Given the description of an element on the screen output the (x, y) to click on. 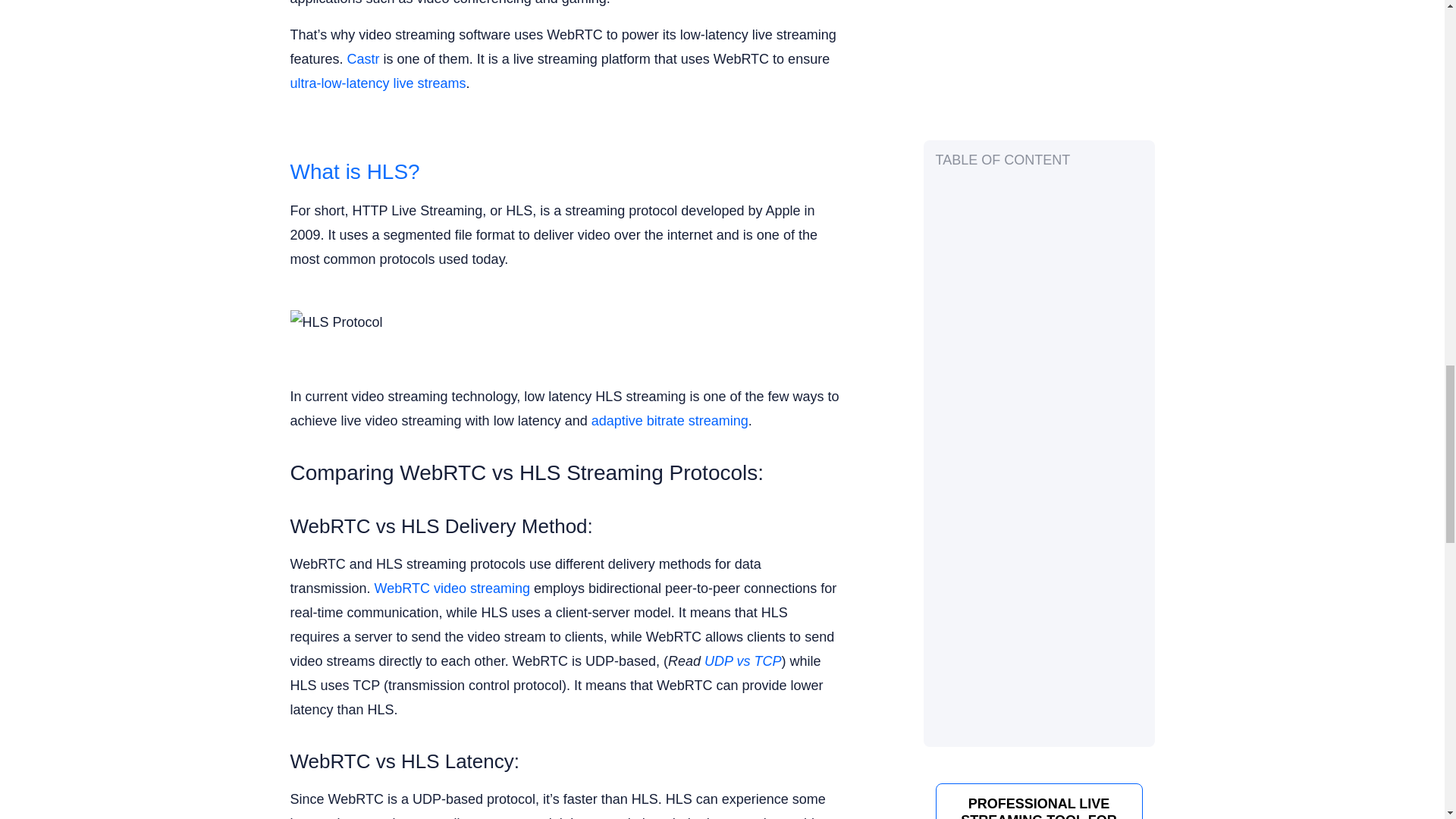
What is HLS? (354, 171)
WebRTC video streaming (451, 588)
ultra-low-latency live streams (377, 83)
adaptive bitrate streaming (669, 420)
UDP vs TCP (742, 661)
Castr (363, 58)
